Given the description of an element on the screen output the (x, y) to click on. 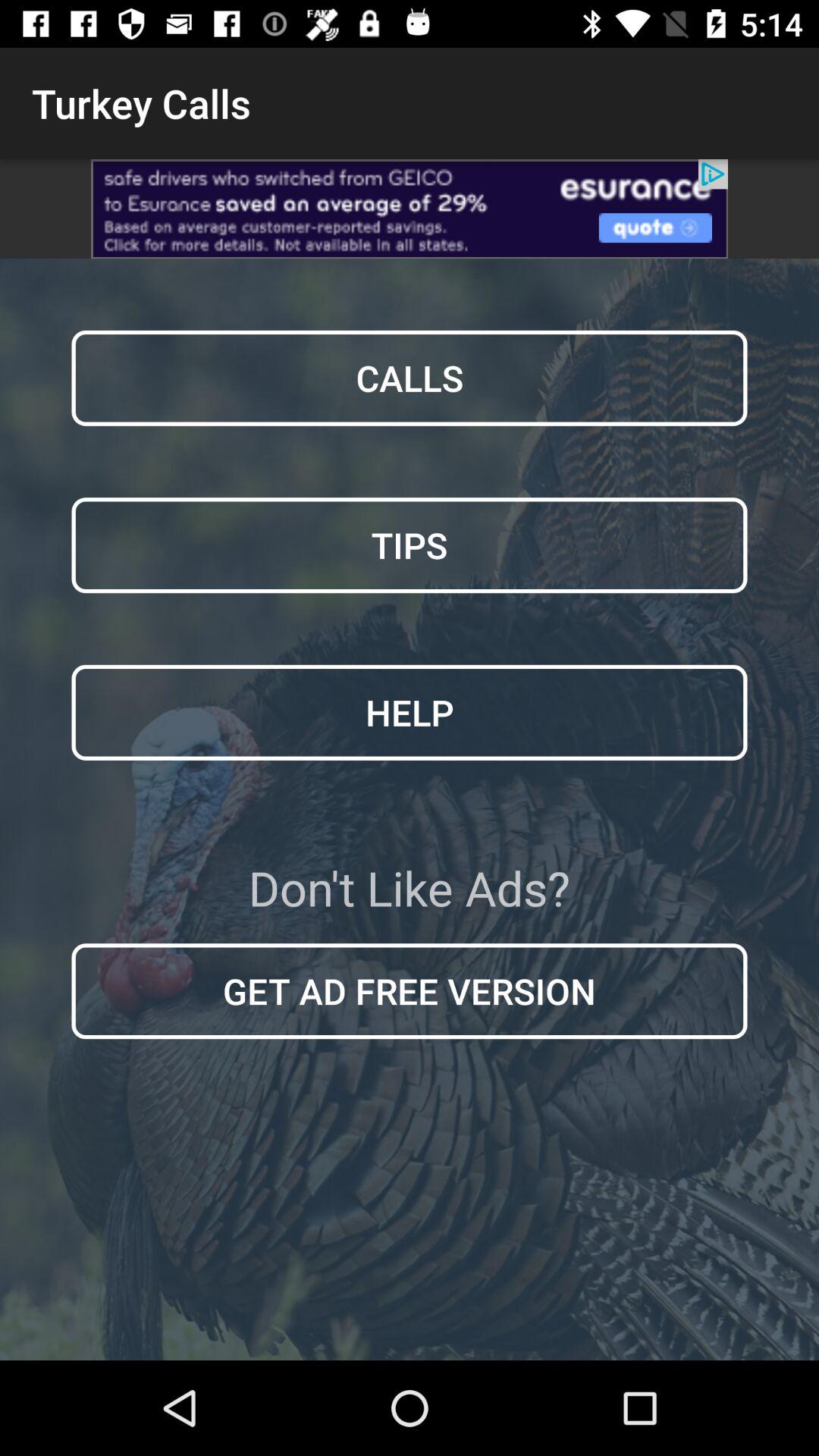
banner advertisement (409, 208)
